Given the description of an element on the screen output the (x, y) to click on. 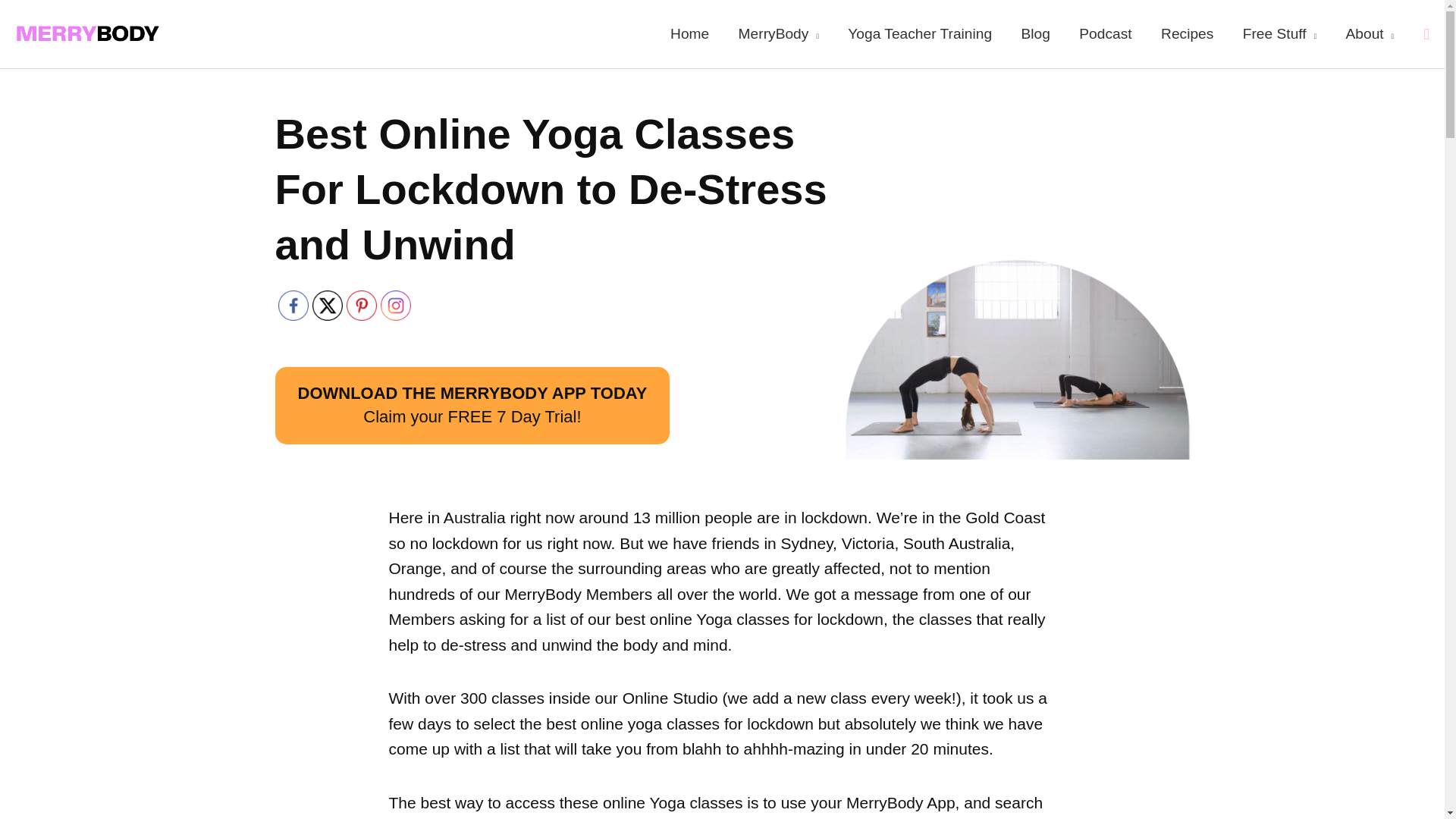
Instagram (395, 305)
Twitter (327, 305)
Pinterest (360, 305)
Free Stuff (1280, 33)
Podcast (1105, 33)
Yoga Teacher Training (919, 33)
Recipes (1187, 33)
Home (689, 33)
About (1368, 33)
MerryBody (777, 33)
Facebook (292, 305)
